Given the description of an element on the screen output the (x, y) to click on. 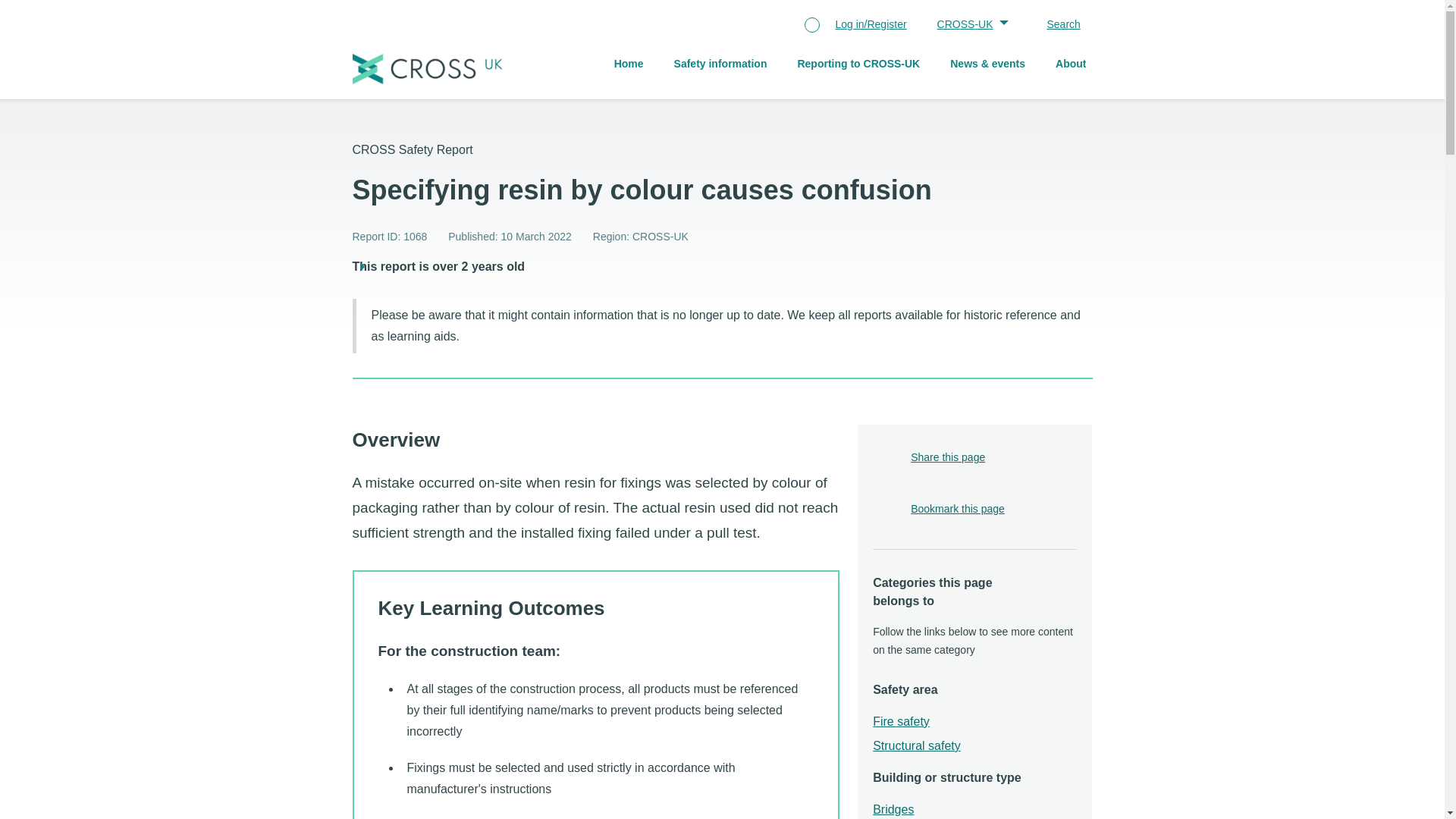
Bridges (893, 810)
Search (1056, 25)
Fire safety (901, 722)
About (1070, 65)
Safety information (720, 65)
Structural safety (916, 746)
Main menu (799, 65)
Home (628, 65)
Share this page (928, 457)
CROSS-UK (970, 25)
Bookmark this page (957, 509)
Top menu (906, 25)
Reporting to CROSS-UK (858, 65)
